Given the description of an element on the screen output the (x, y) to click on. 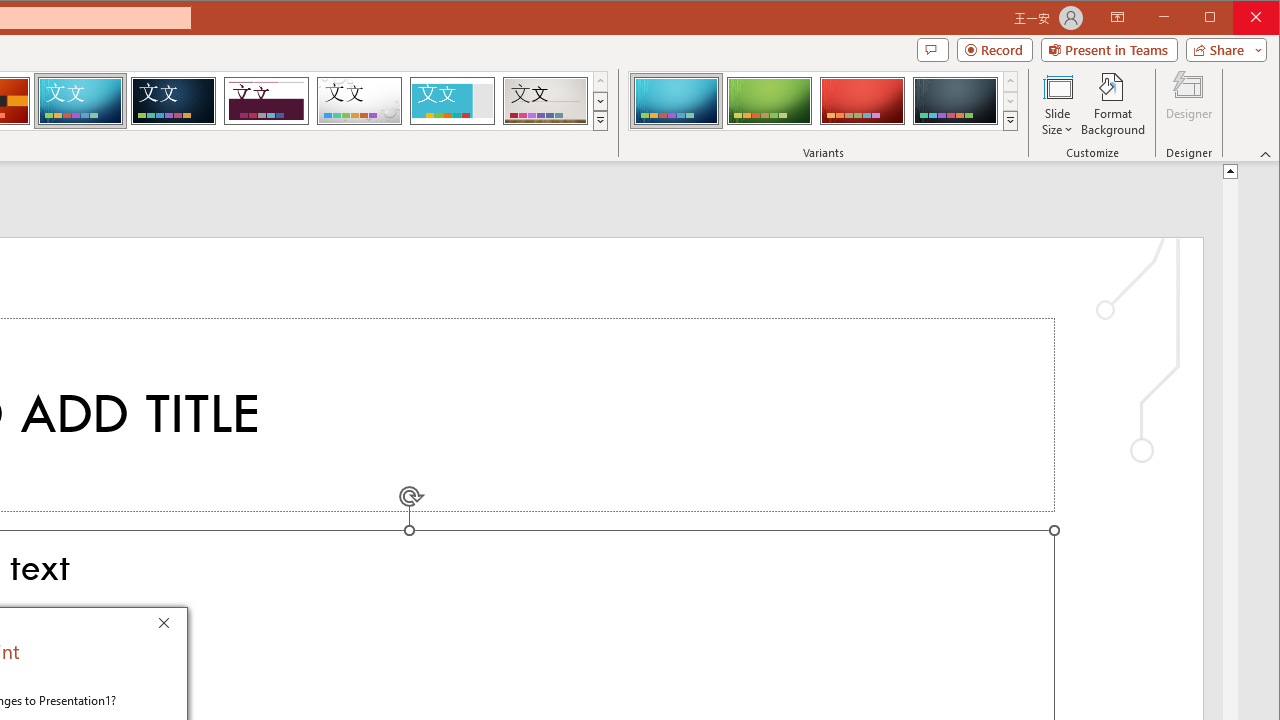
Maximize (1238, 18)
Gallery (545, 100)
Line up (1230, 170)
Format Background (1113, 104)
Damask (173, 100)
Row up (1010, 81)
Dividend (266, 100)
Circuit Variant 4 (955, 100)
Slide Size (1057, 104)
AutomationID: ThemeVariantsGallery (824, 101)
Variants (1010, 120)
Themes (600, 120)
